Given the description of an element on the screen output the (x, y) to click on. 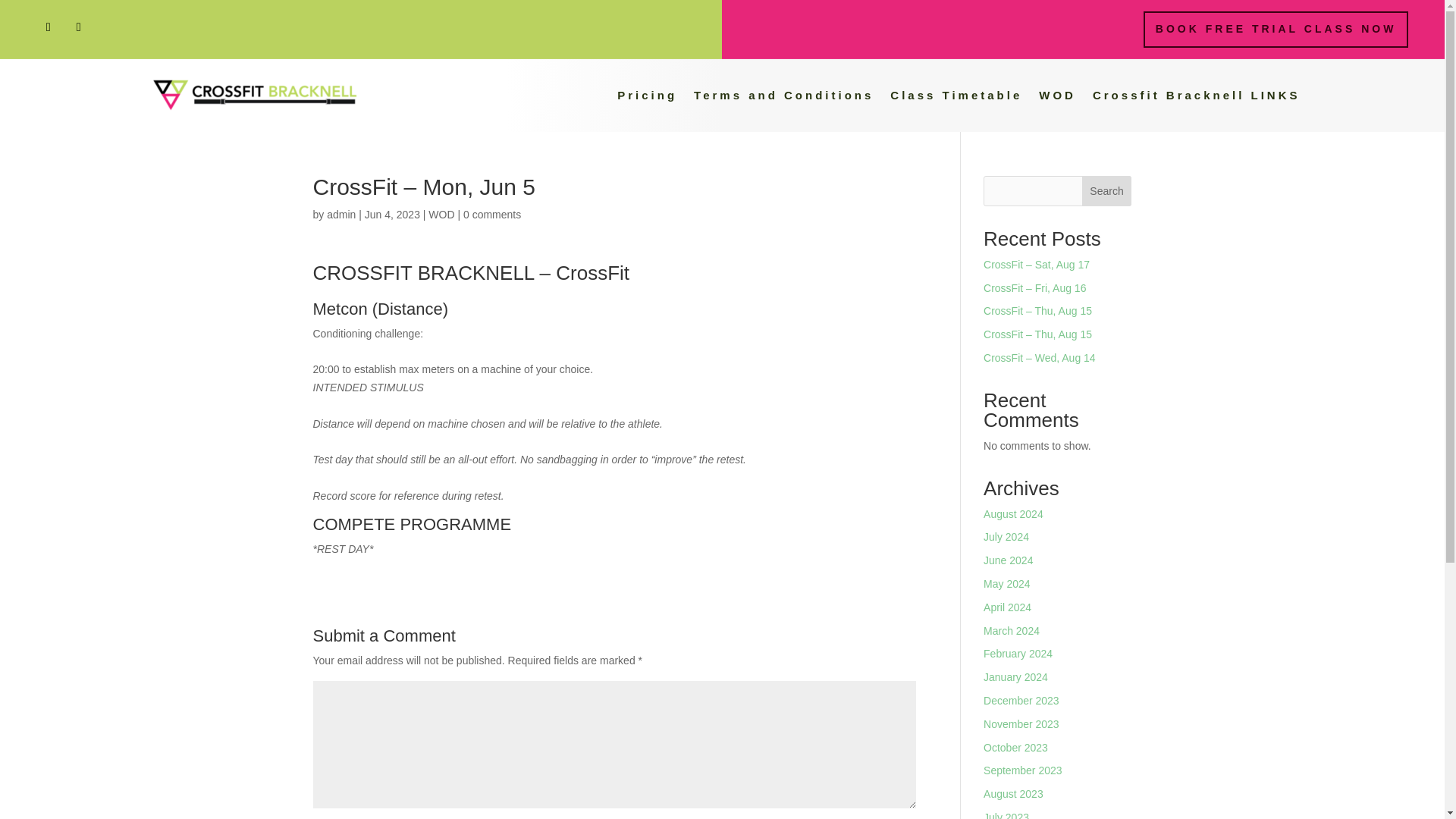
BOOK FREE TRIAL CLASS NOW (1275, 29)
January 2024 (1016, 676)
July 2023 (1006, 815)
September 2023 (1023, 770)
August 2023 (1013, 793)
February 2024 (1018, 653)
Pricing (647, 95)
Crossfit Bracknell LINKS (1196, 95)
August 2024 (1013, 513)
April 2024 (1007, 607)
